Given the description of an element on the screen output the (x, y) to click on. 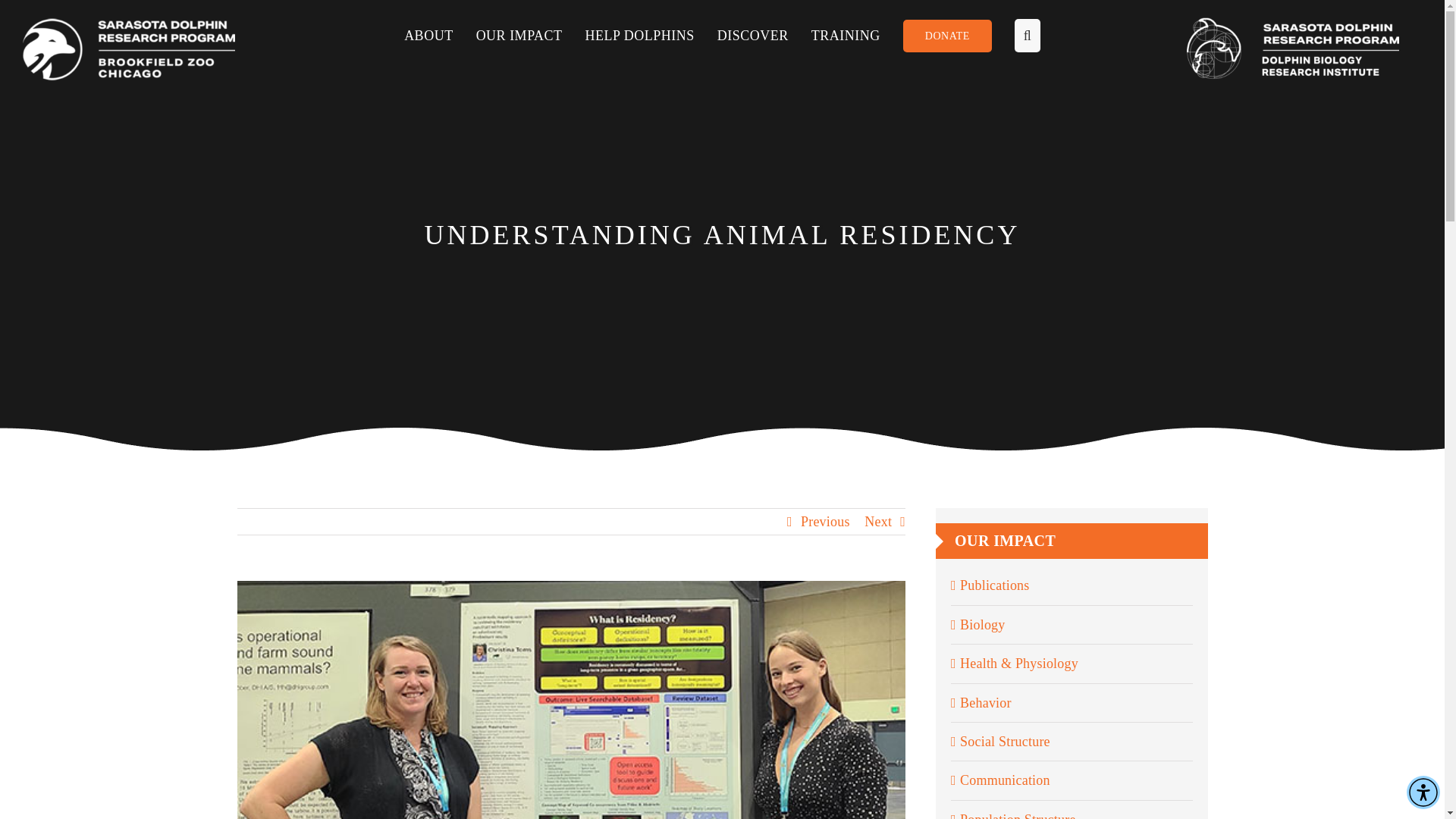
OUR IMPACT (530, 35)
DISCOVER (763, 35)
Accessibility Menu (1422, 792)
HELP DOLPHINS (651, 35)
ABOUT (440, 35)
Search (1016, 35)
